Given the description of an element on the screen output the (x, y) to click on. 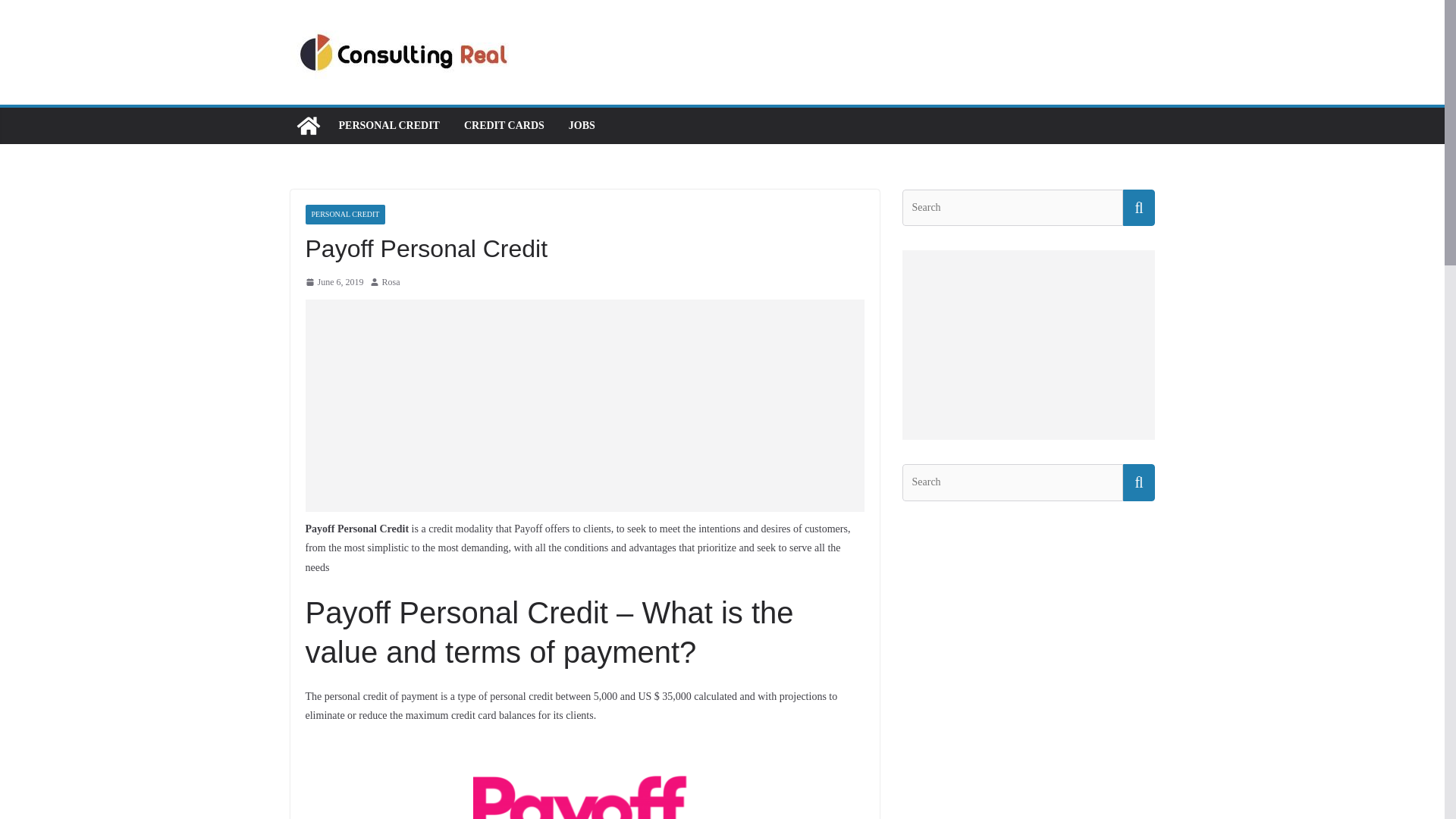
CREDIT CARDS (504, 125)
JOBS (582, 125)
PERSONAL CREDIT (388, 125)
Rosa (390, 282)
Advertisement (583, 405)
Advertisement (1028, 344)
June 6, 2019 (333, 282)
Consulting Real (307, 125)
10:52 pm (333, 282)
PERSONAL CREDIT (344, 214)
